Given the description of an element on the screen output the (x, y) to click on. 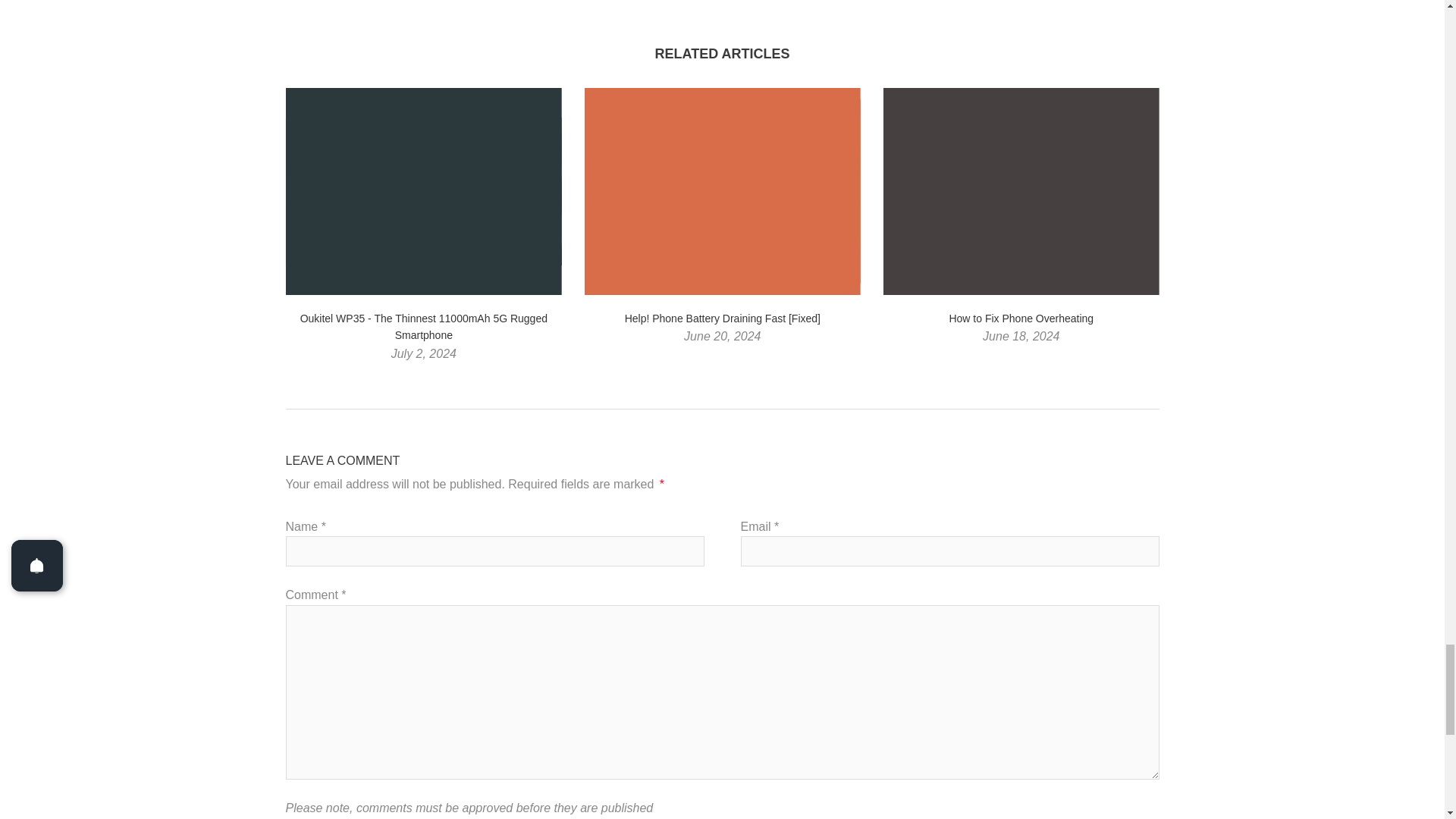
Back to Blog (722, 2)
How to choose a good processor for rugged tablets? (646, 2)
